Given the description of an element on the screen output the (x, y) to click on. 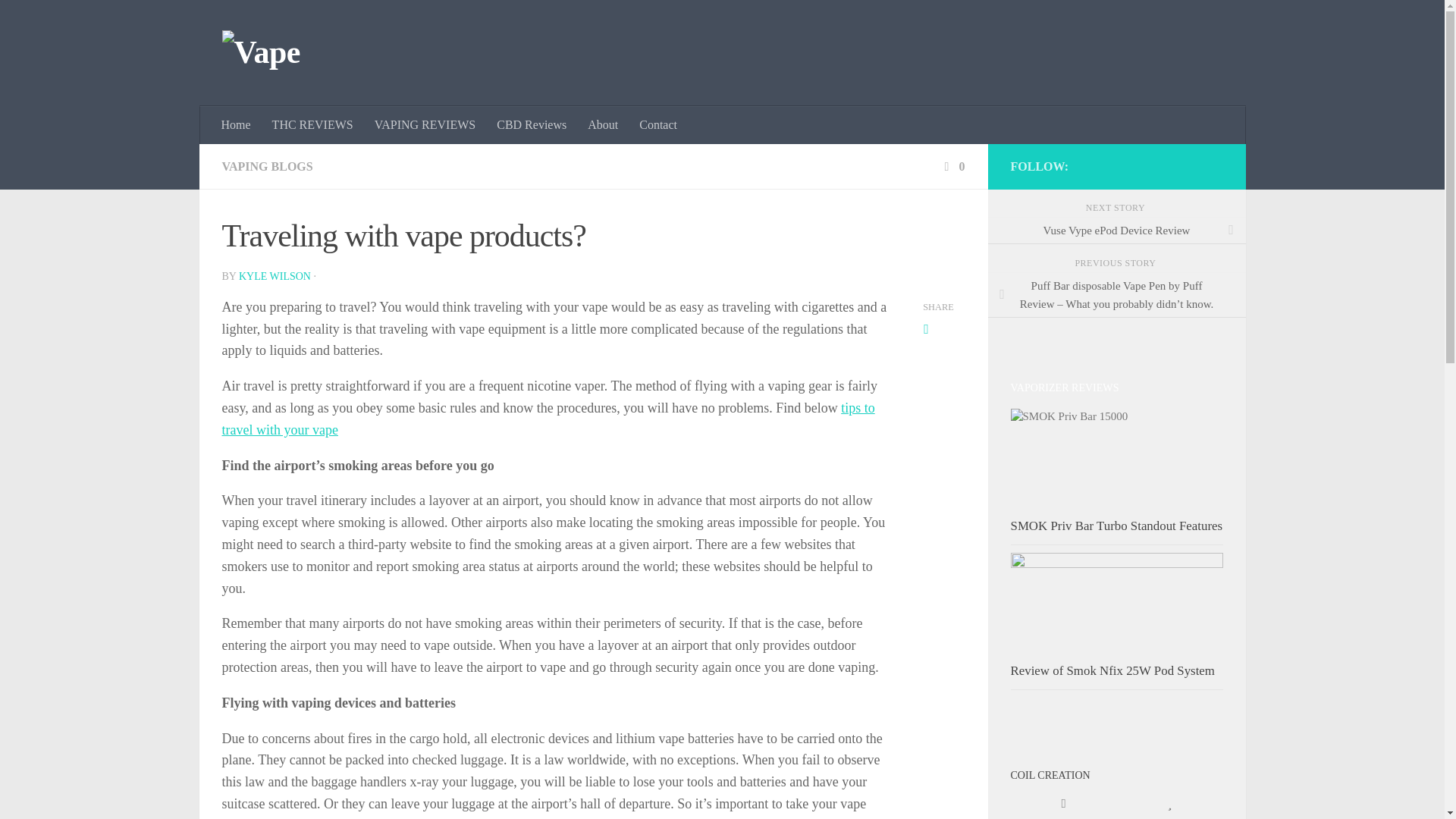
KYLE WILSON (274, 276)
CBD Reviews (531, 125)
0 (951, 165)
About (602, 125)
VAPING BLOGS (267, 165)
THC REVIEWS (313, 125)
Contact (657, 125)
Vuse Vype ePod Device Review (1115, 230)
Popular Posts (1169, 803)
Home (236, 125)
